Given the description of an element on the screen output the (x, y) to click on. 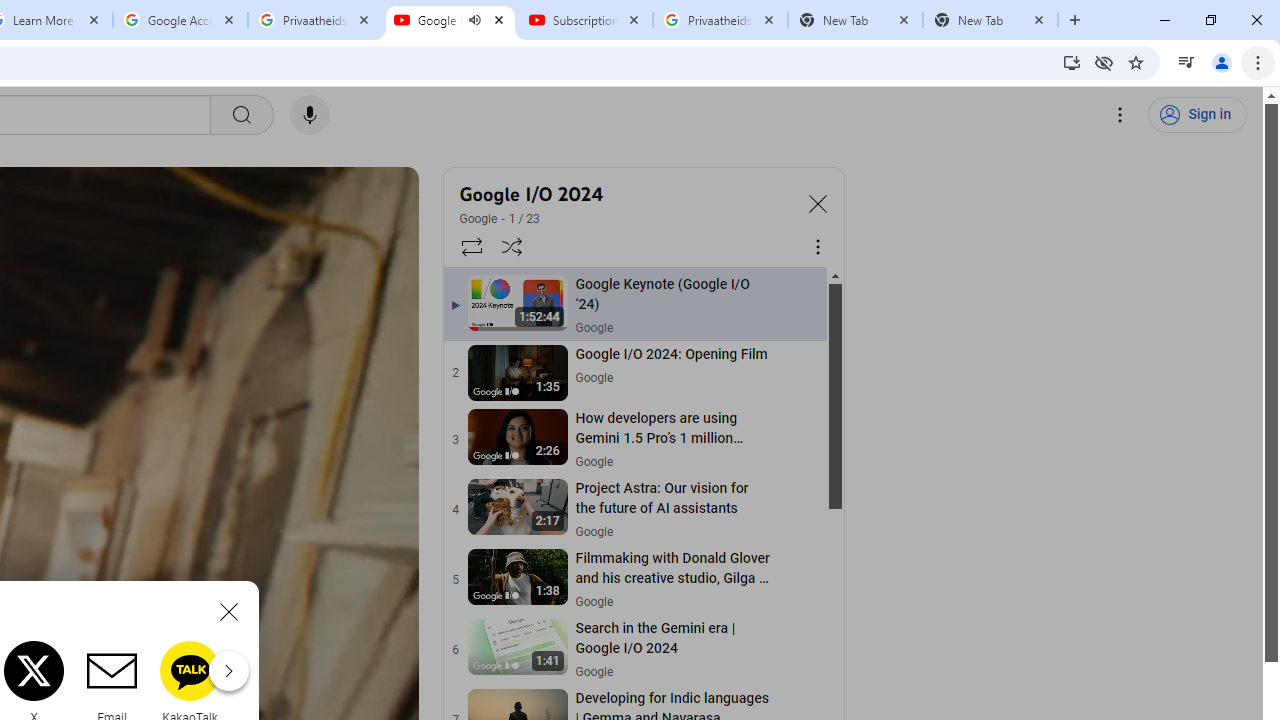
Next (228, 670)
